Given the description of an element on the screen output the (x, y) to click on. 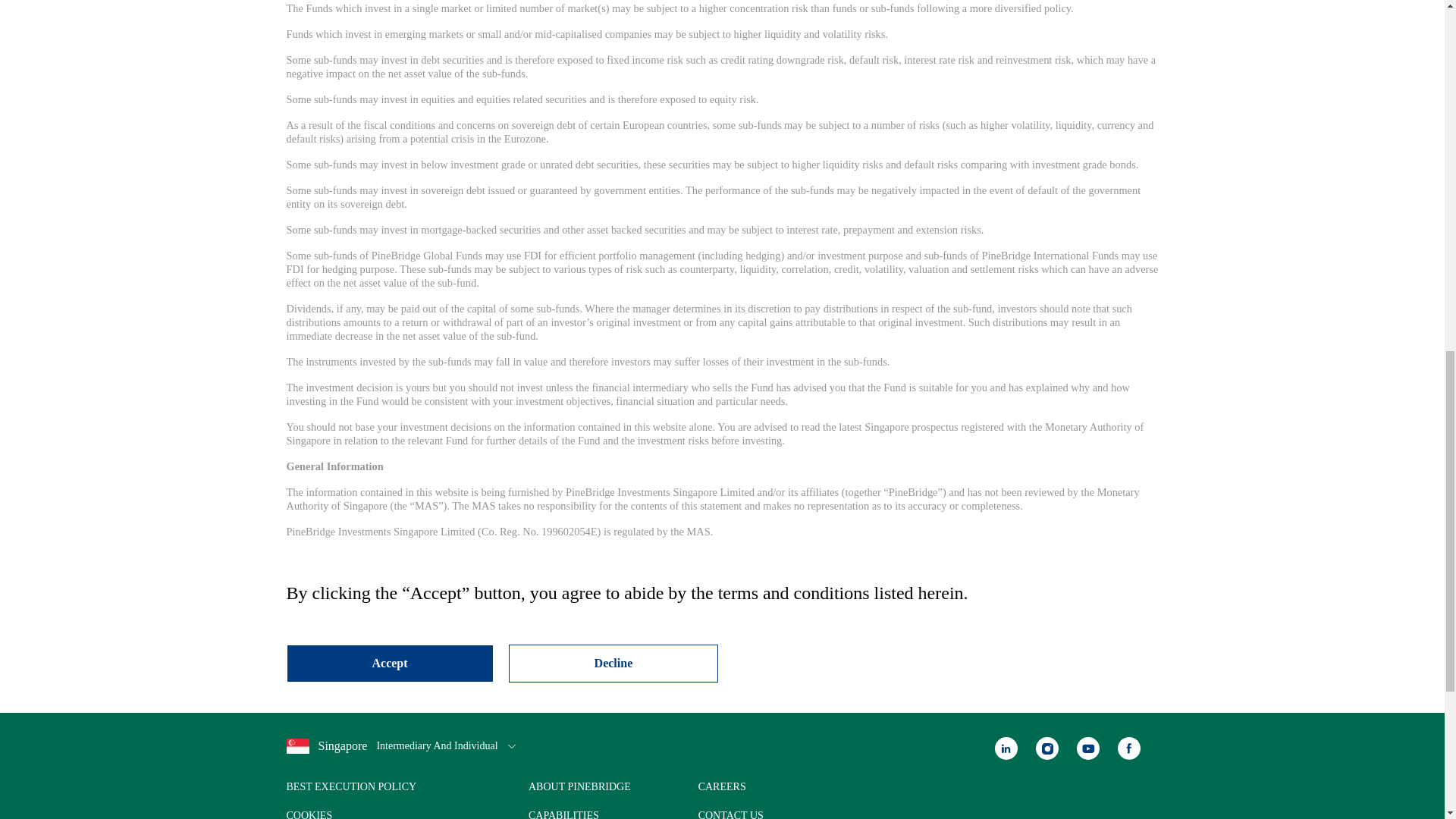
Decline (613, 663)
Accept (389, 663)
